Given the description of an element on the screen output the (x, y) to click on. 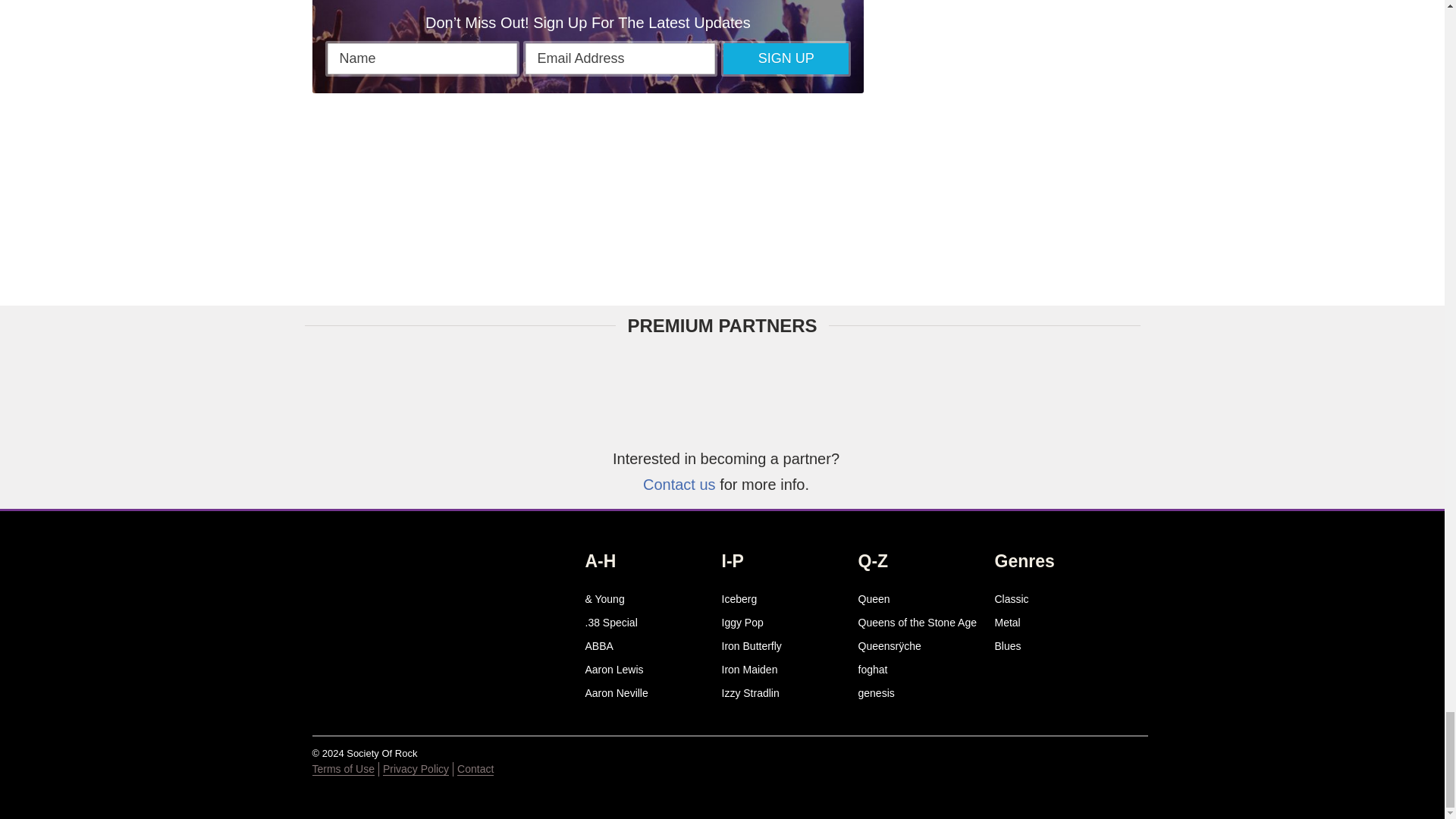
Sign Up (785, 58)
